Given the description of an element on the screen output the (x, y) to click on. 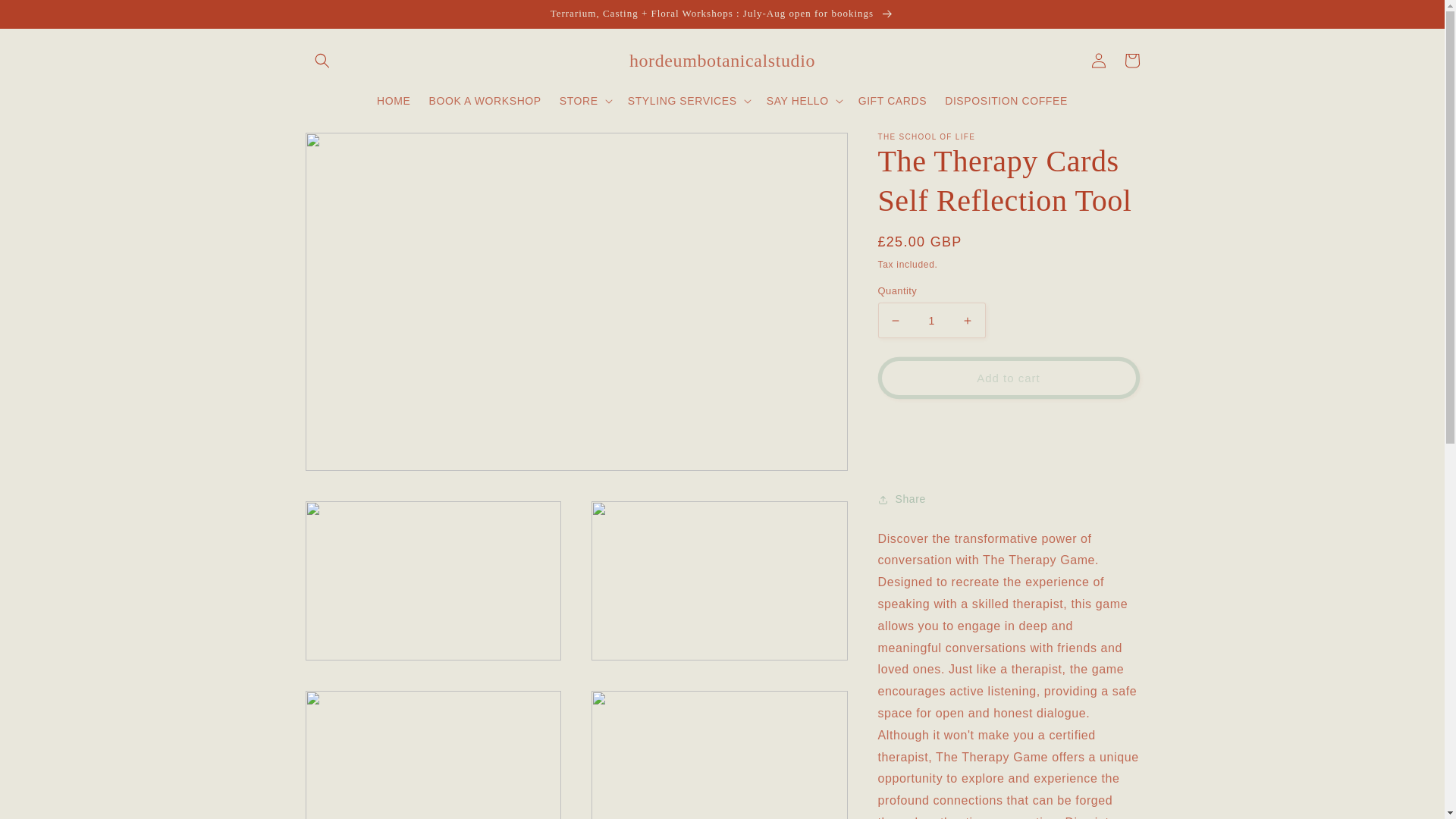
1 (931, 320)
Skip to content (48, 20)
BOOK A WORKSHOP (485, 101)
hordeumbotanicalstudio (722, 60)
HOME (393, 101)
